Given the description of an element on the screen output the (x, y) to click on. 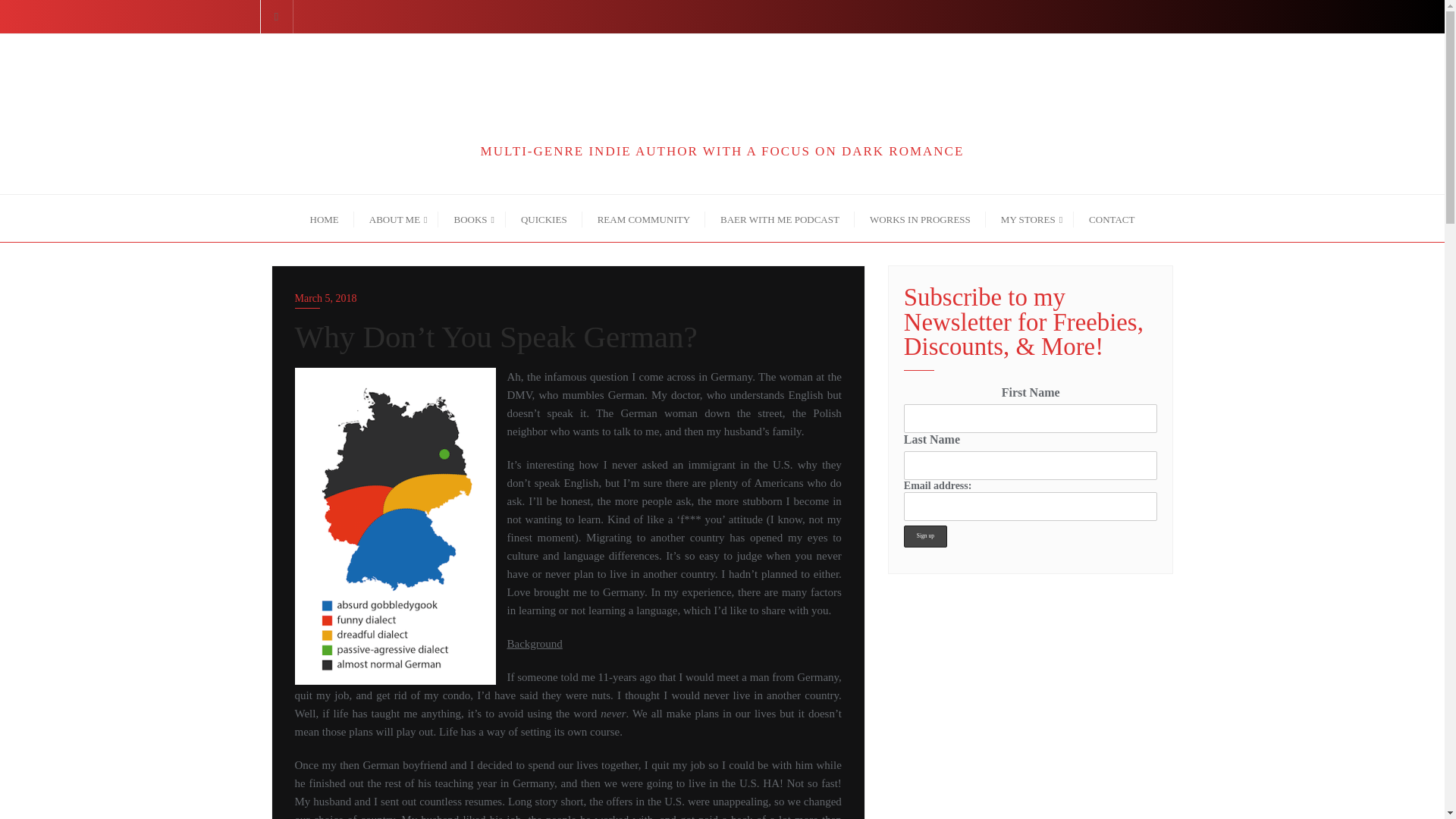
QUICKIES (543, 217)
BAER WITH ME PODCAST (779, 217)
CONTACT (1112, 217)
BOOKS (471, 217)
HOME (324, 217)
MY STORES (1029, 217)
WORKS IN PROGRESS (919, 217)
ABOUT ME (396, 217)
REAM COMMUNITY (643, 217)
Sign up (925, 536)
